Given the description of an element on the screen output the (x, y) to click on. 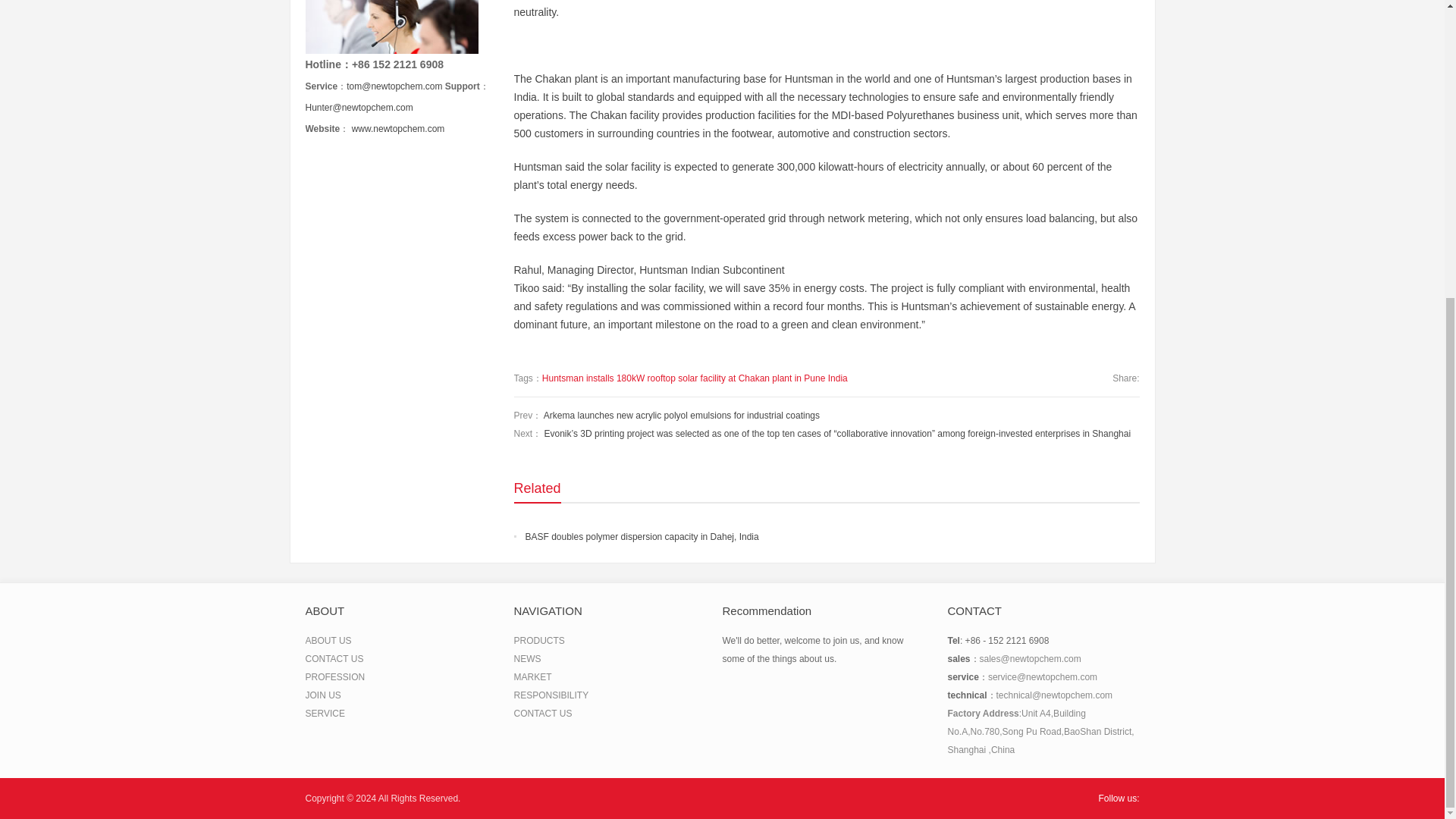
India (837, 378)
NEWS (527, 658)
SERVICE (323, 713)
PROFESSION (334, 676)
MARKET (532, 676)
CONTACT US (333, 658)
BASF doubles polymer dispersion capacity in Dahej, India (635, 536)
www.newtopchem.com (398, 128)
